Given the description of an element on the screen output the (x, y) to click on. 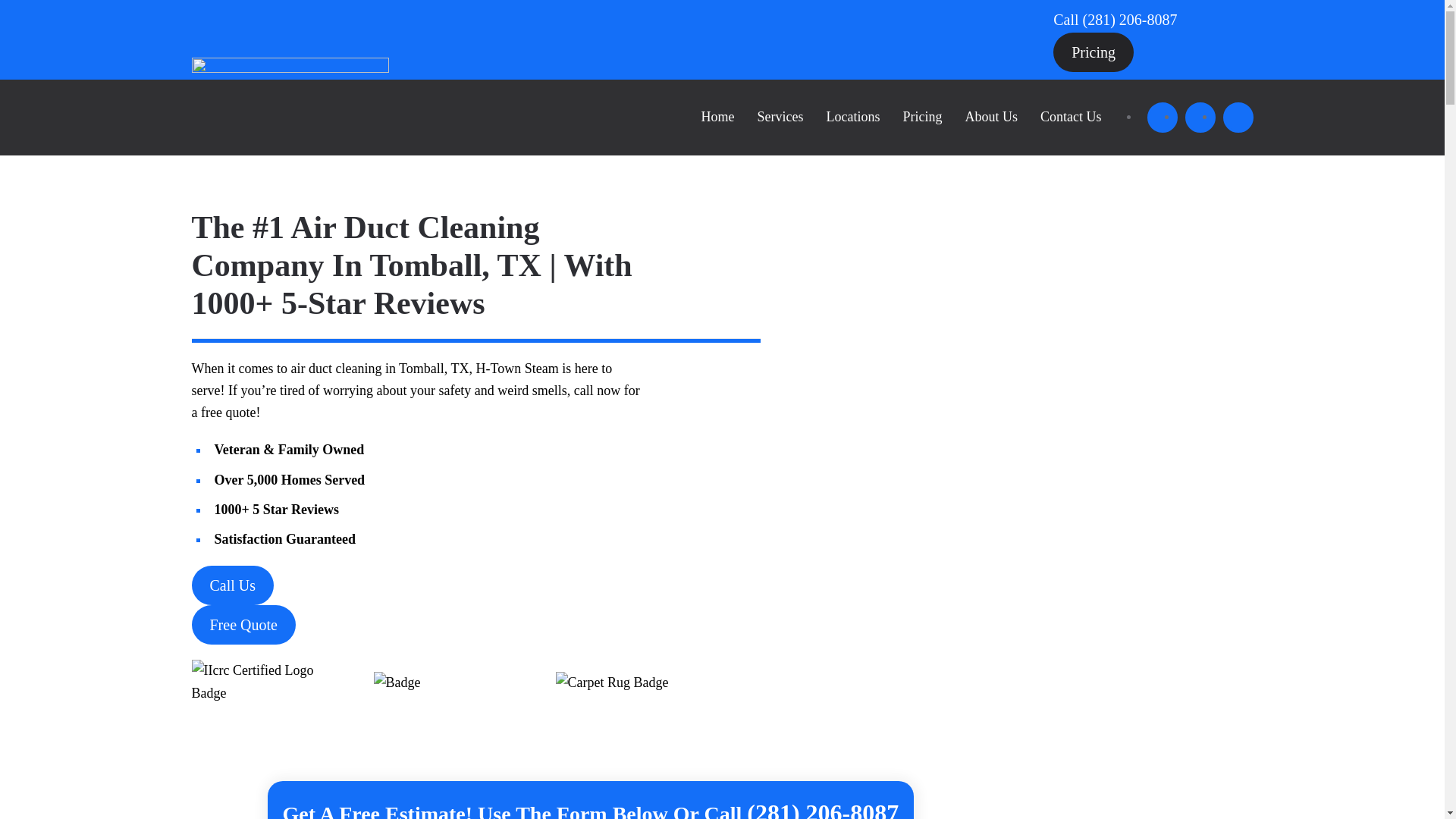
Services (780, 116)
Home (718, 116)
Pricing (1093, 51)
